Given the description of an element on the screen output the (x, y) to click on. 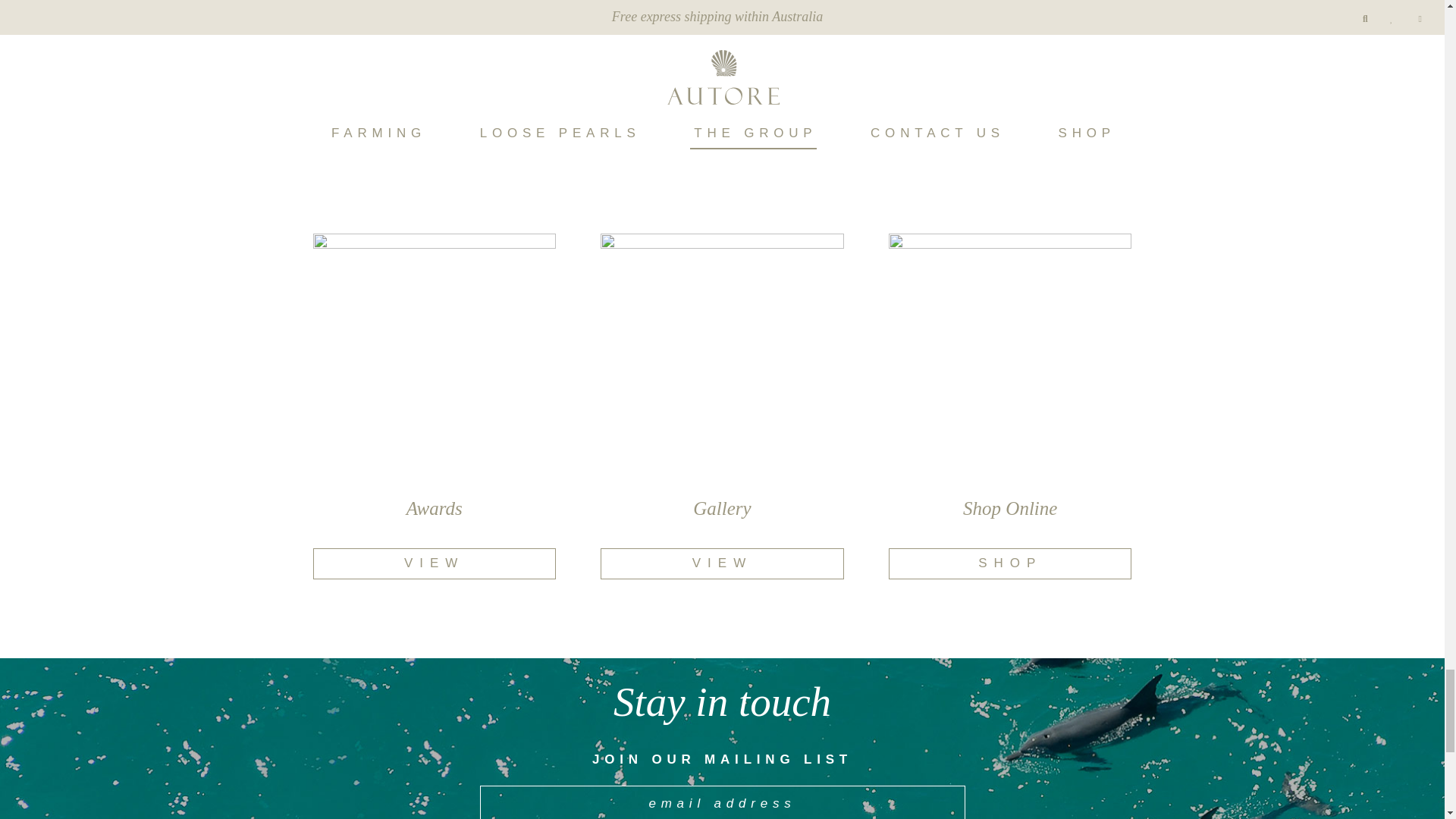
5s (433, 15)
awards (433, 354)
5s (1009, 15)
5s (721, 15)
